Given the description of an element on the screen output the (x, y) to click on. 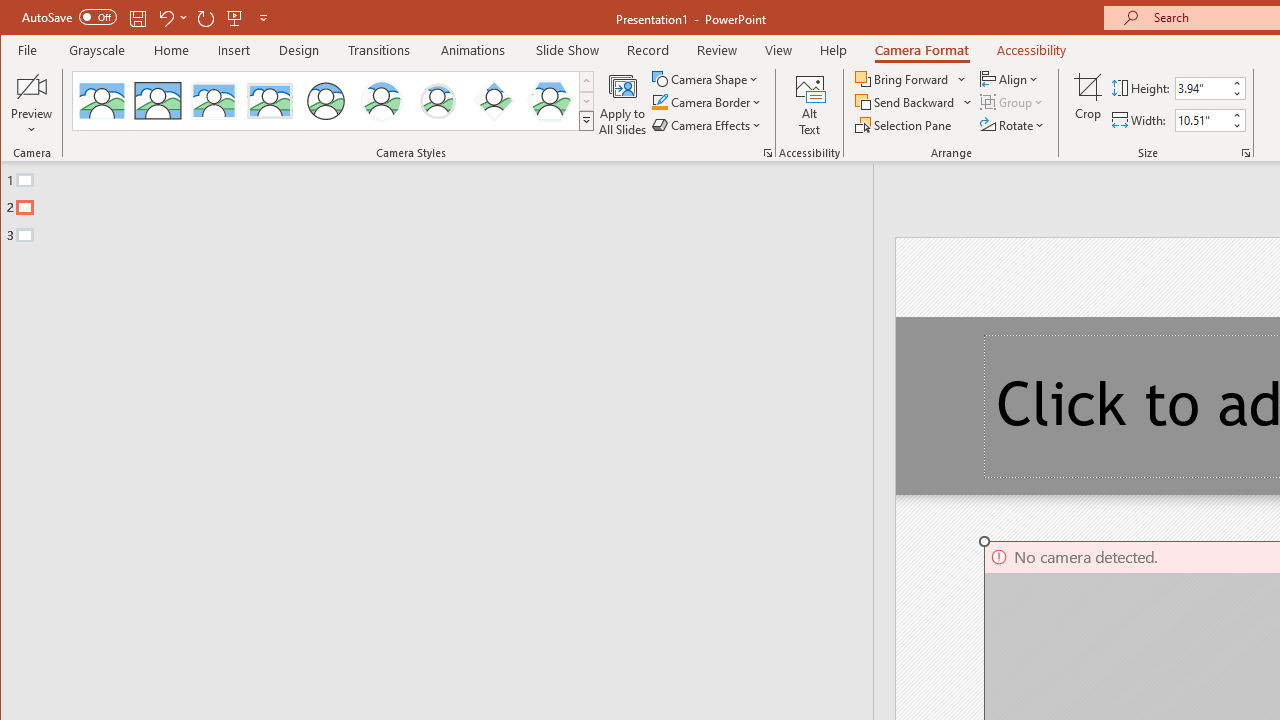
Camera Effects (708, 124)
Camera Border (706, 101)
Center Shadow Rectangle (213, 100)
Group (1012, 101)
Preview (31, 104)
Cameo Height (1201, 88)
Selection Pane... (904, 124)
Animations (473, 50)
Center Shadow Hexagon (550, 100)
File Tab (28, 49)
Simple Frame Rectangle (157, 100)
Cameo Width (1201, 120)
Crop (1087, 104)
Center Shadow Circle (381, 100)
Simple Frame Circle (326, 100)
